Given the description of an element on the screen output the (x, y) to click on. 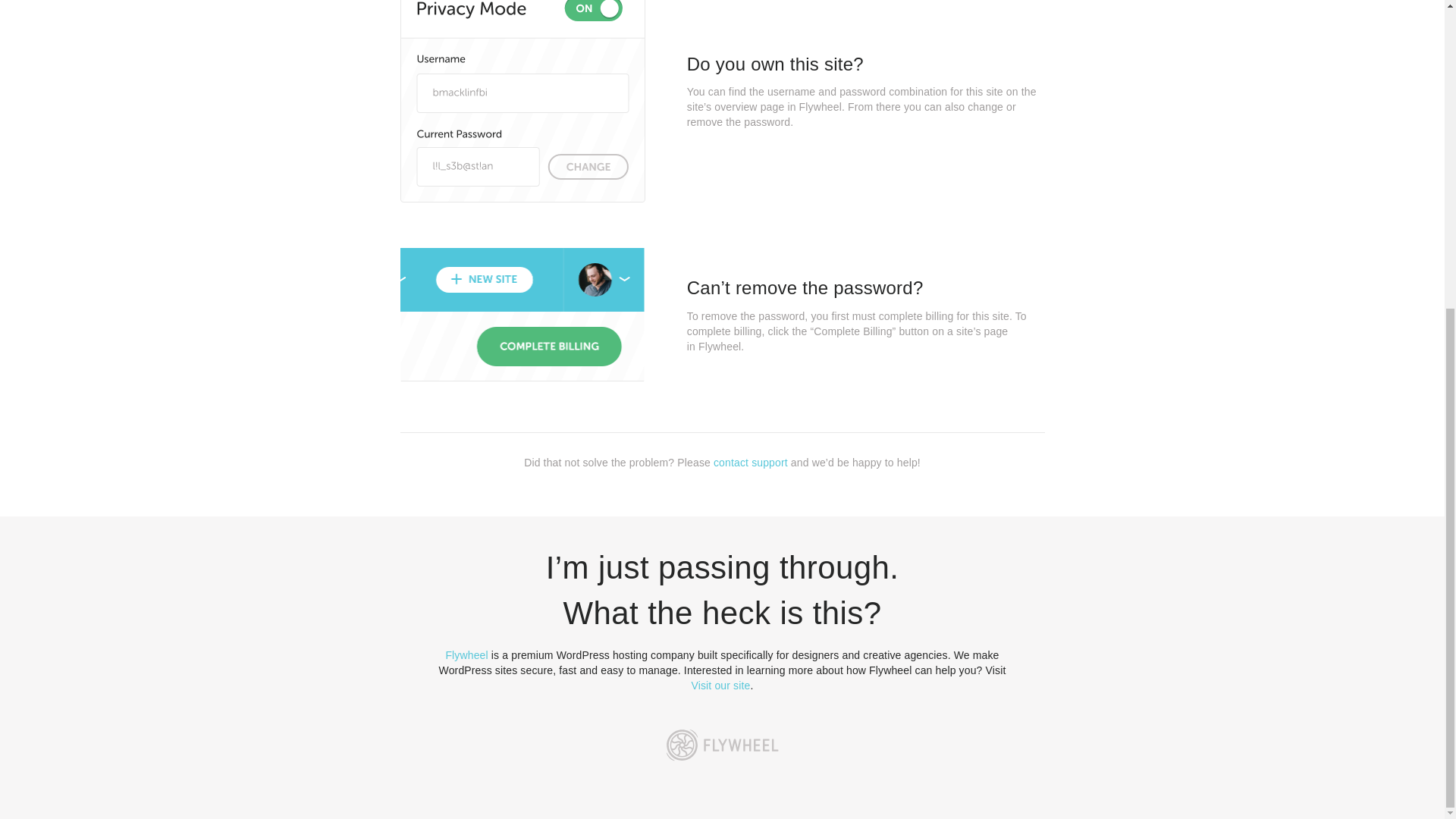
Visit our site (721, 685)
Flywheel (466, 654)
contact support (750, 462)
